Given the description of an element on the screen output the (x, y) to click on. 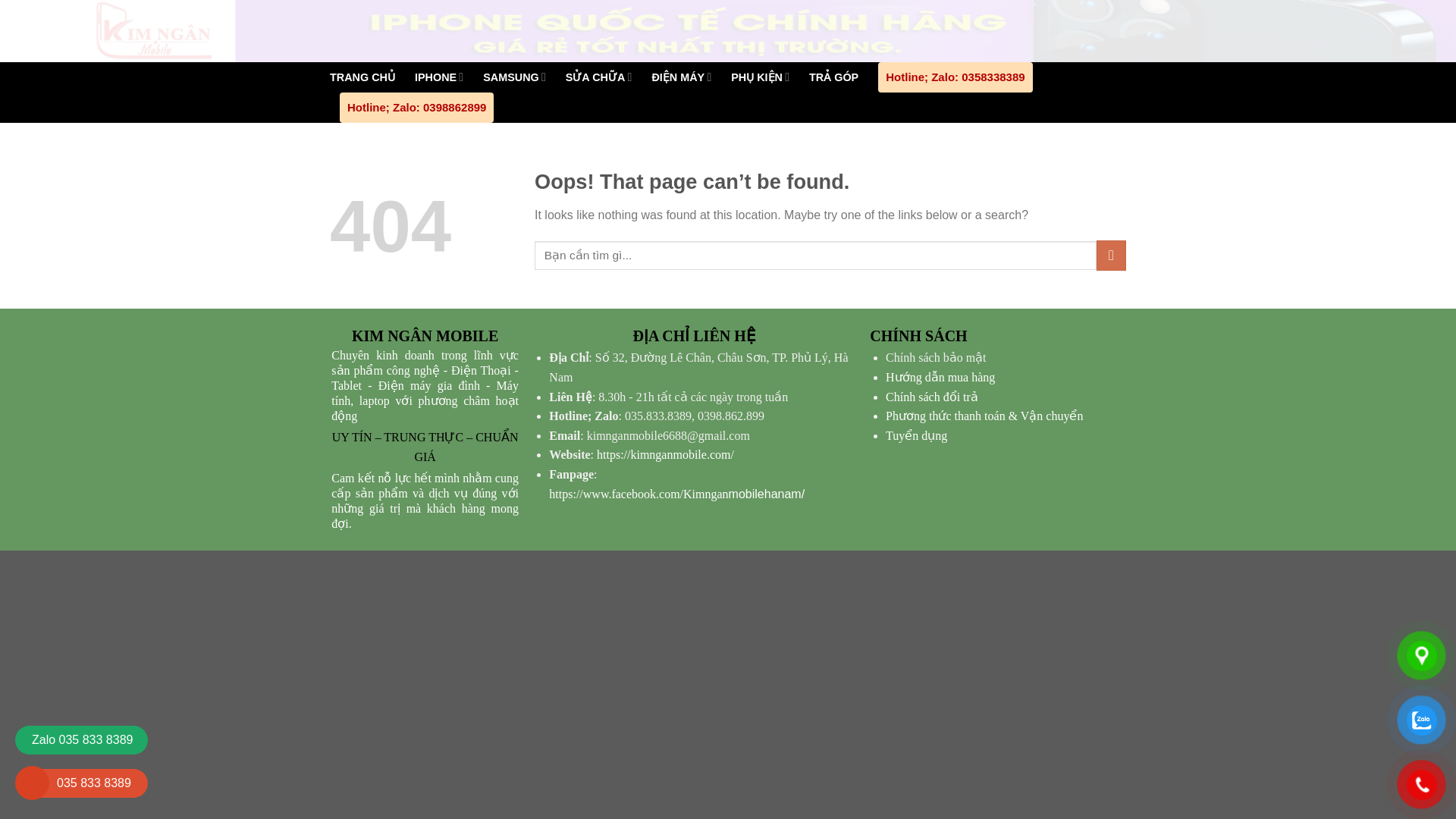
Hotline; Zalo: 0398862899 (416, 107)
SAMSUNG (514, 76)
Hotline; Zalo: 0358338389 (954, 77)
IPHONE (438, 76)
